Given the description of an element on the screen output the (x, y) to click on. 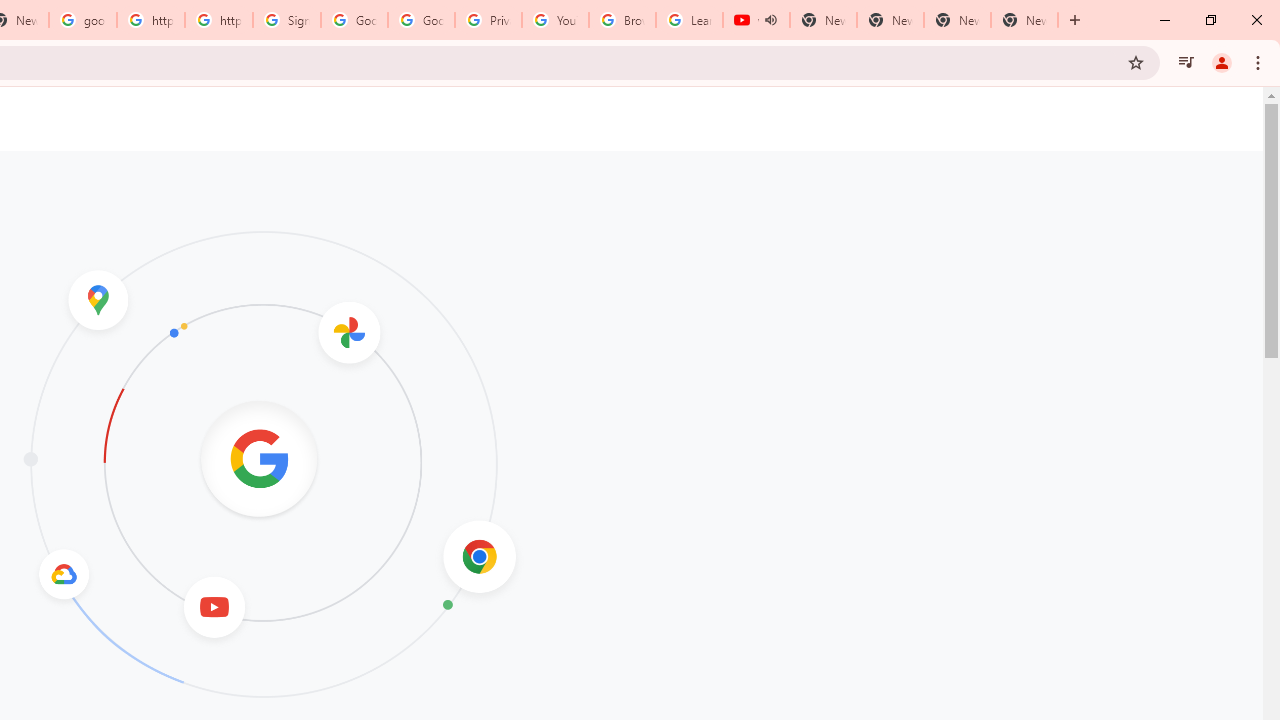
https://scholar.google.com/ (150, 20)
Sign in - Google Accounts (287, 20)
New Tab (1024, 20)
